Given the description of an element on the screen output the (x, y) to click on. 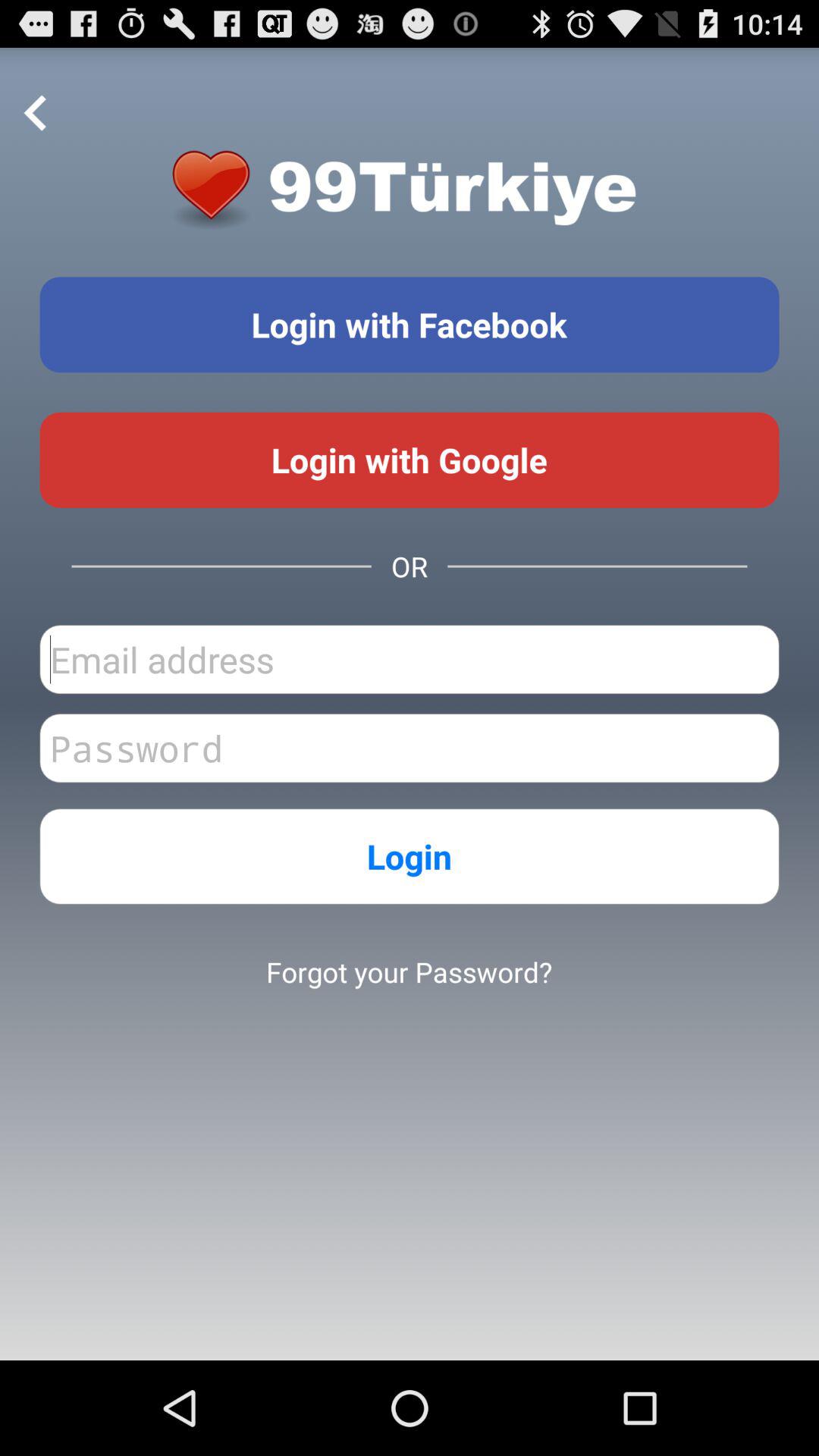
email address login space (409, 659)
